Given the description of an element on the screen output the (x, y) to click on. 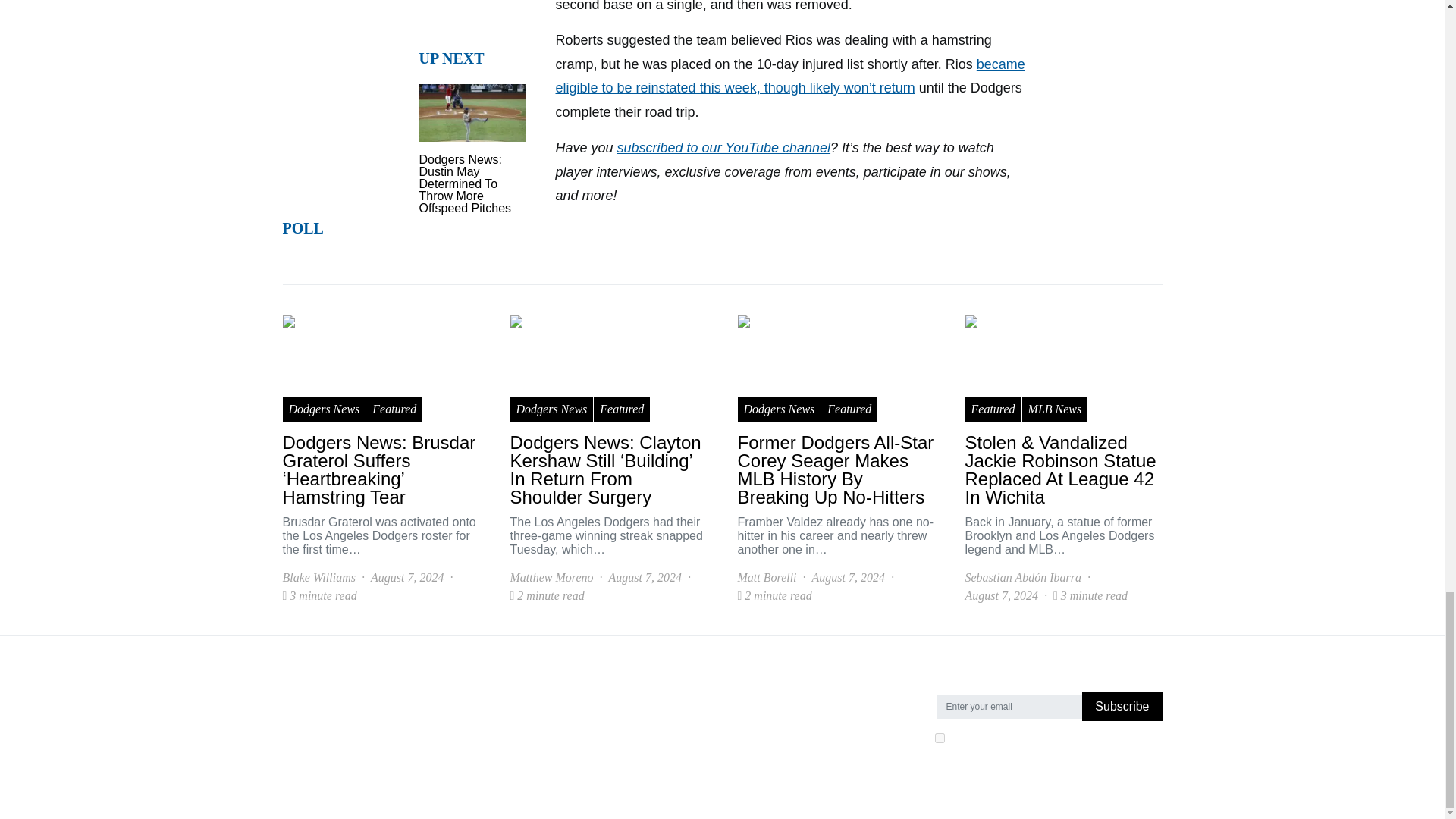
View all posts by Matt Borelli (766, 577)
View all posts by Matthew Moreno (550, 577)
View all posts by Blake Williams (318, 577)
on (938, 737)
